Given the description of an element on the screen output the (x, y) to click on. 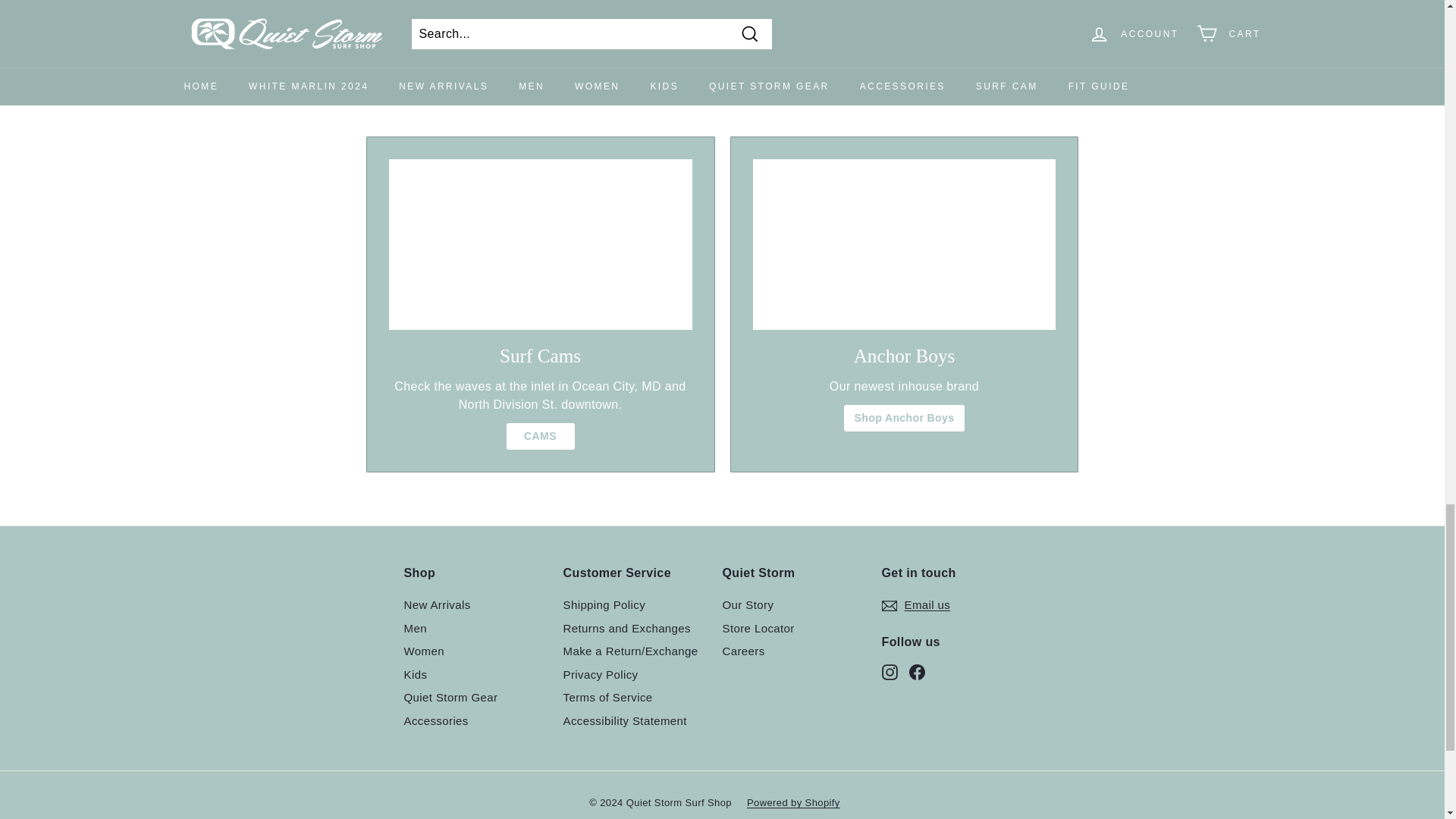
Quiet Storm Surf Shop on Instagram (888, 671)
Quiet Storm Surf Shop on Facebook (916, 671)
